Given the description of an element on the screen output the (x, y) to click on. 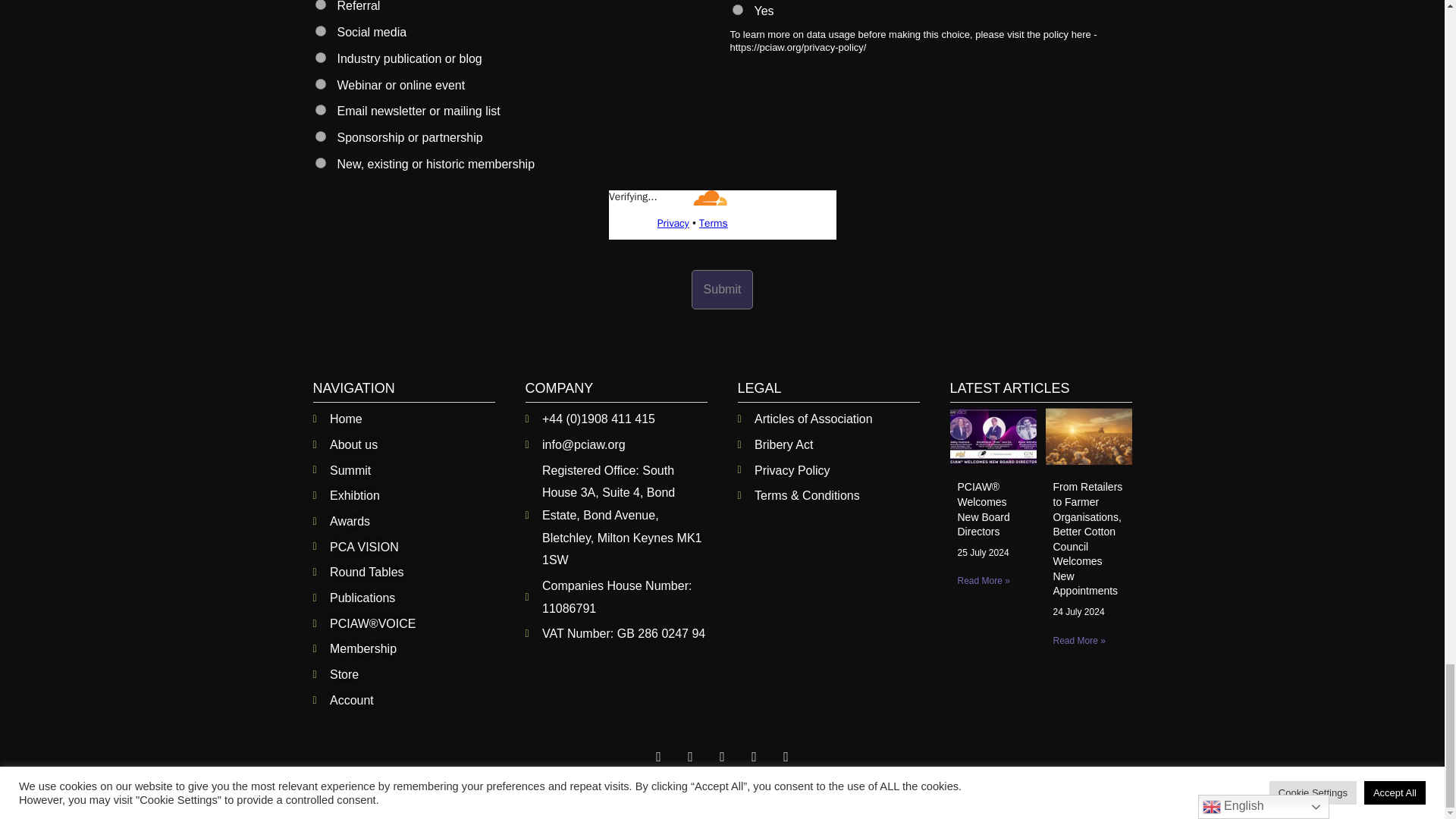
Social media (320, 30)
Webinar or online event (320, 83)
Sponsorship or partnership (320, 136)
Email newsletter or mailing list (320, 109)
Industry publication or blog (320, 57)
Yes (737, 9)
Referral (320, 4)
New, existing or historic membership (320, 163)
